Given the description of an element on the screen output the (x, y) to click on. 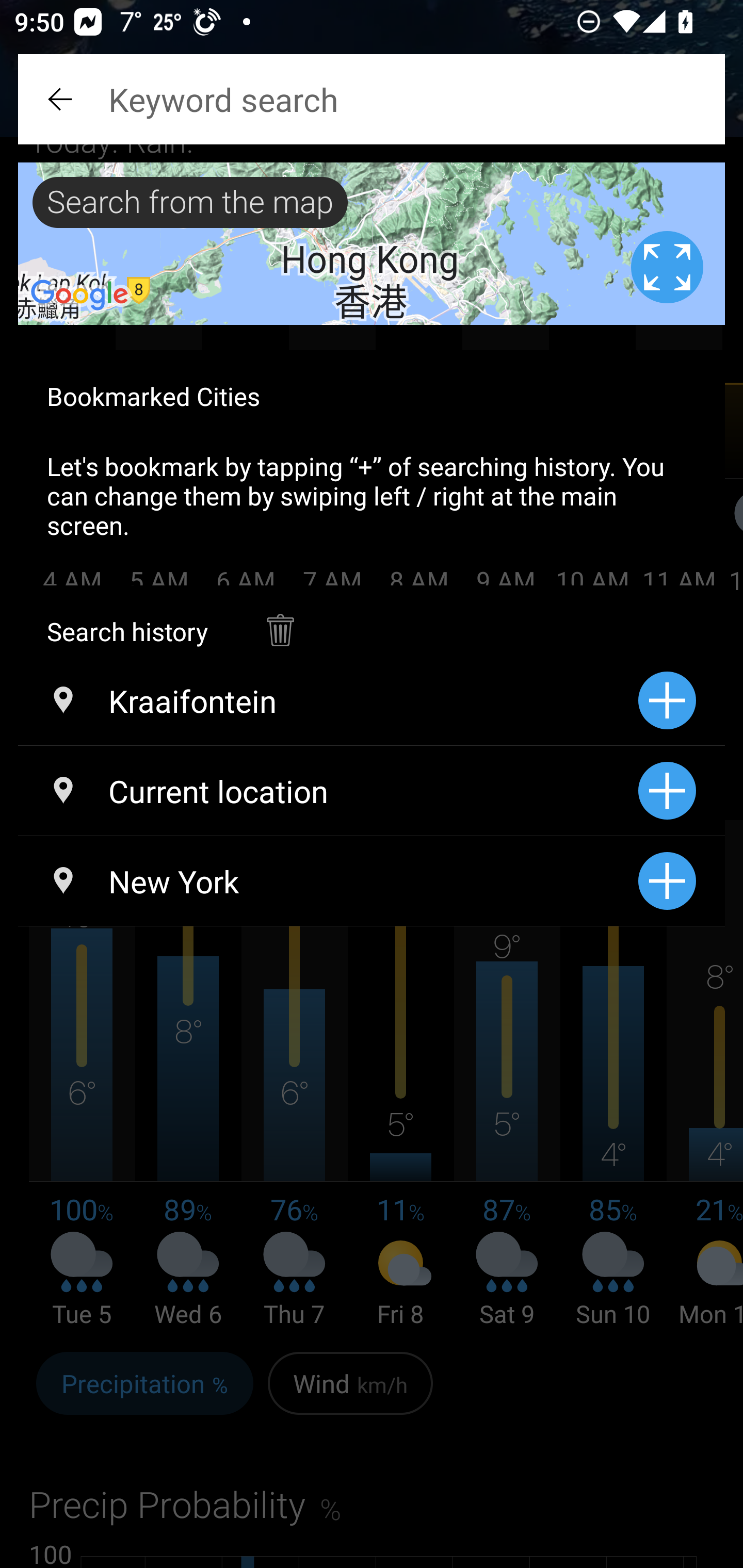
Keyword search (371, 99)
 (61, 99)
 (280, 619)
 Kraaifontein (327, 700)
 Current location (327, 790)
 New York (327, 880)
